Given the description of an element on the screen output the (x, y) to click on. 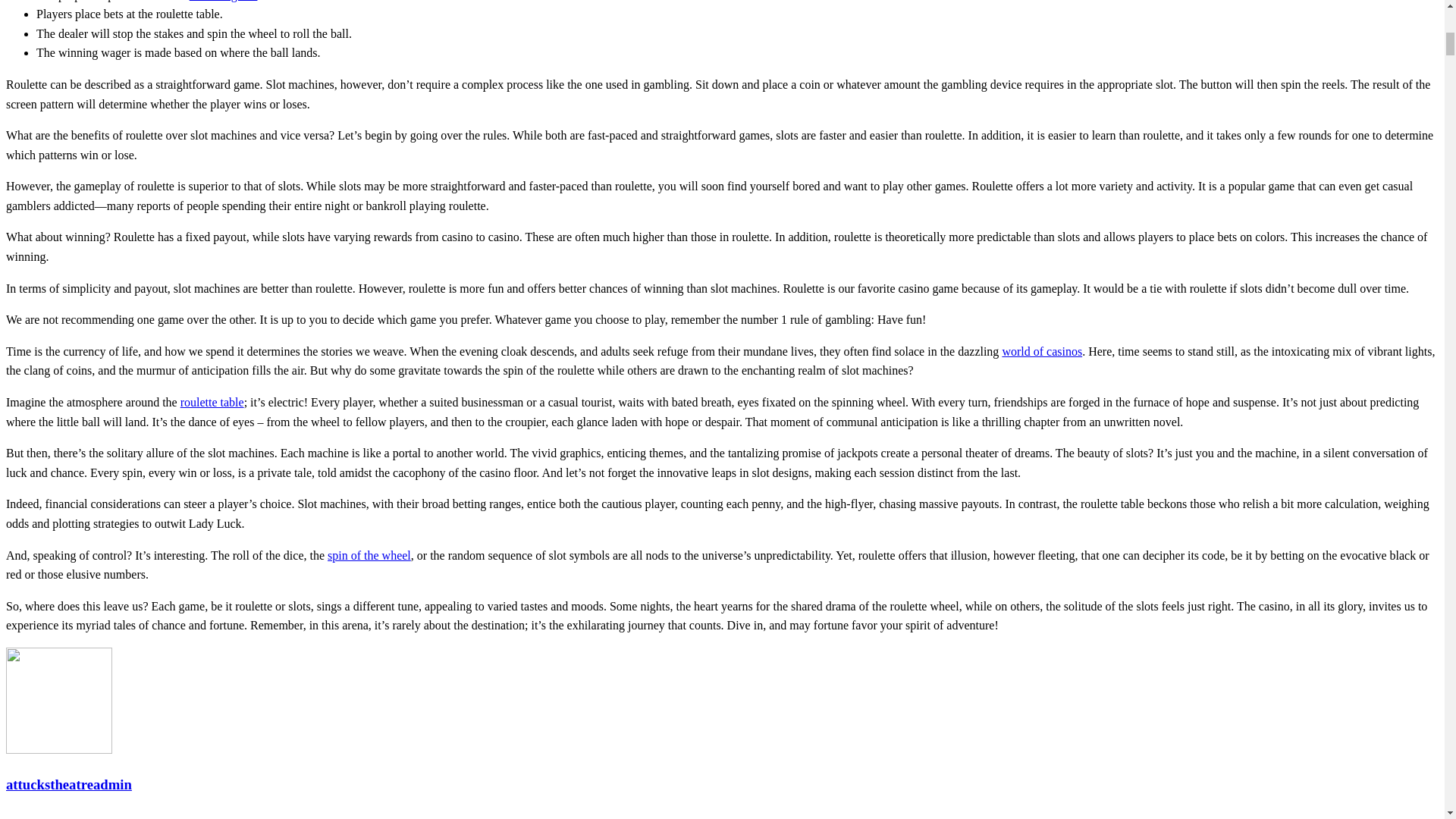
roulette table (212, 401)
attuckstheatreadmin (40, 816)
world of casinos (1041, 350)
start the game (223, 0)
View all posts (40, 816)
spin of the wheel (368, 554)
